Given the description of an element on the screen output the (x, y) to click on. 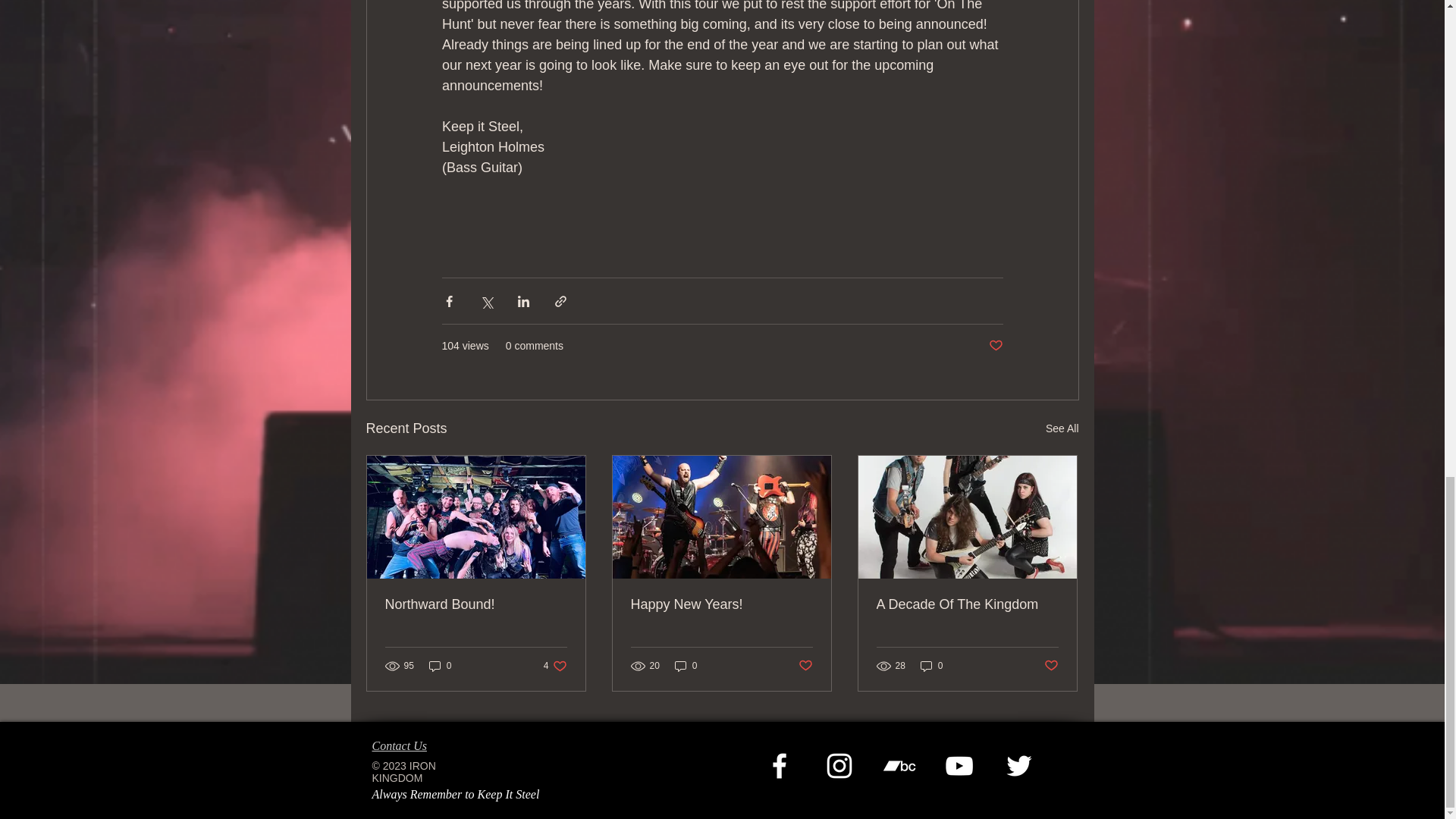
See All (555, 666)
Post not marked as liked (1061, 428)
Northward Bound! (995, 345)
0 (476, 604)
